Given the description of an element on the screen output the (x, y) to click on. 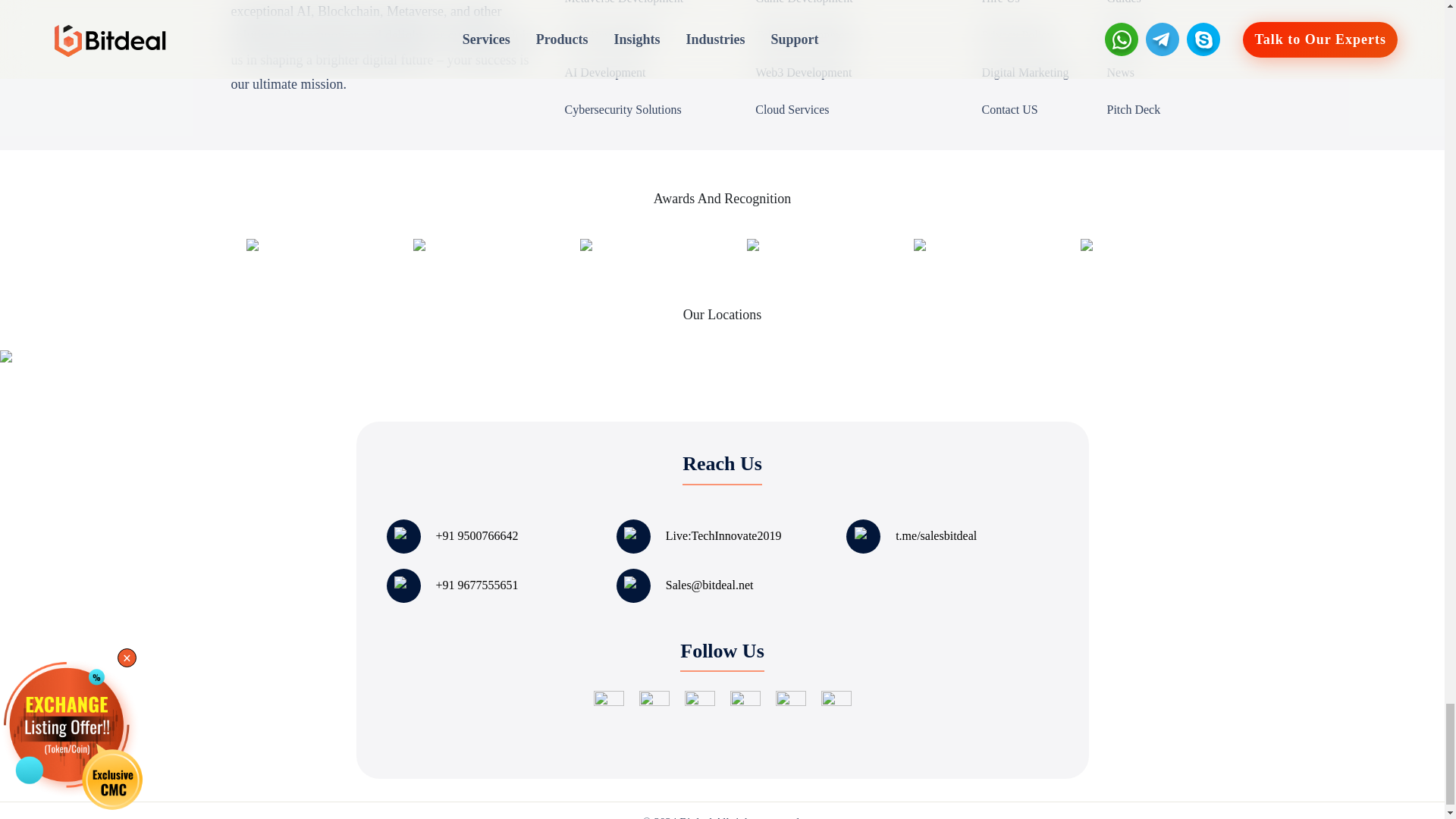
footLogo3 (777, 225)
footLogo2 (611, 225)
footLogo (274, 225)
footLogo (941, 225)
footLogo1 (444, 225)
footLogos (1108, 225)
